Given the description of an element on the screen output the (x, y) to click on. 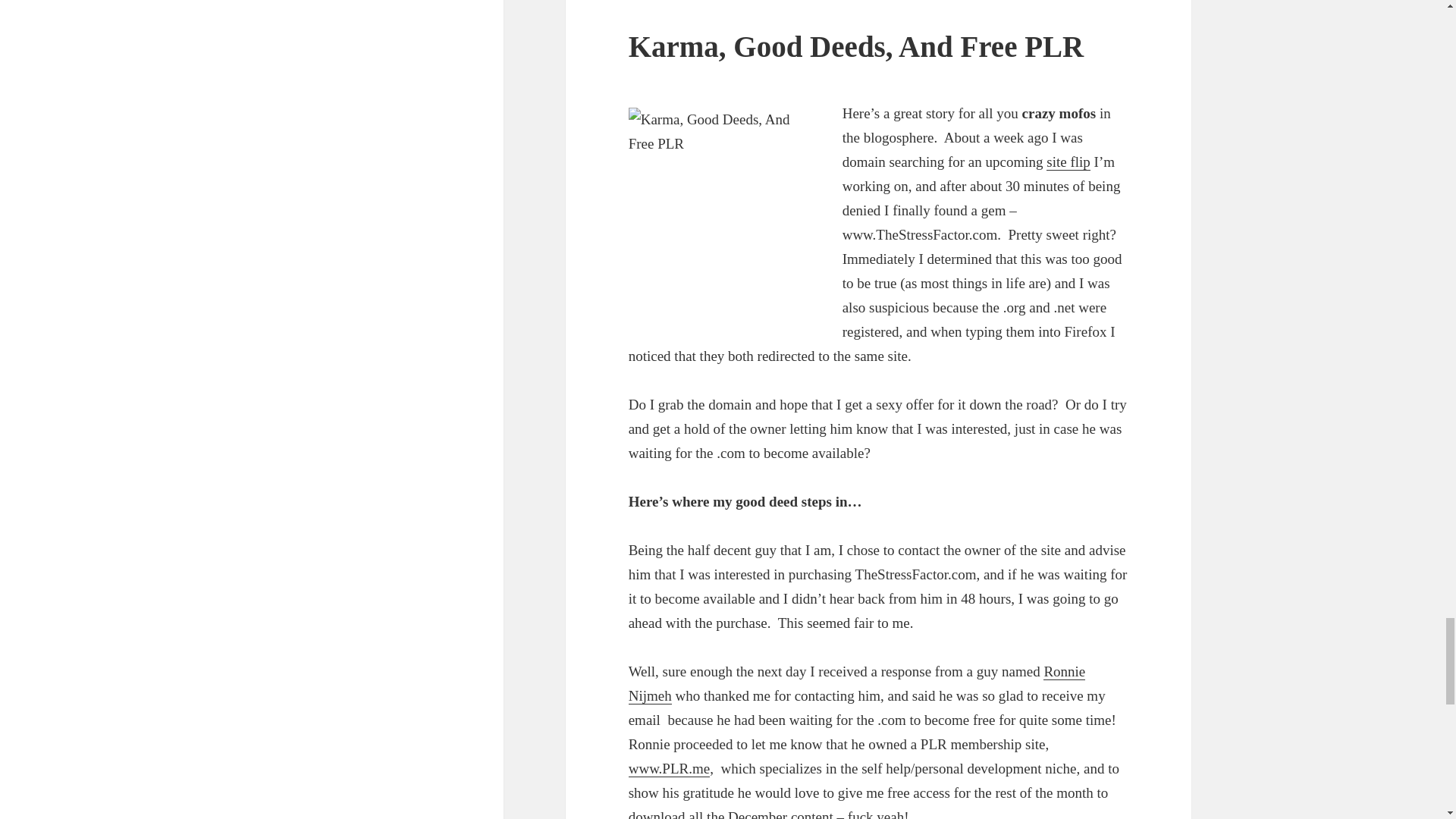
5 ways to increase the value of your site flip (1068, 161)
About Ronnie Nijmeh (857, 683)
Private Label Rights Content (669, 768)
